Given the description of an element on the screen output the (x, y) to click on. 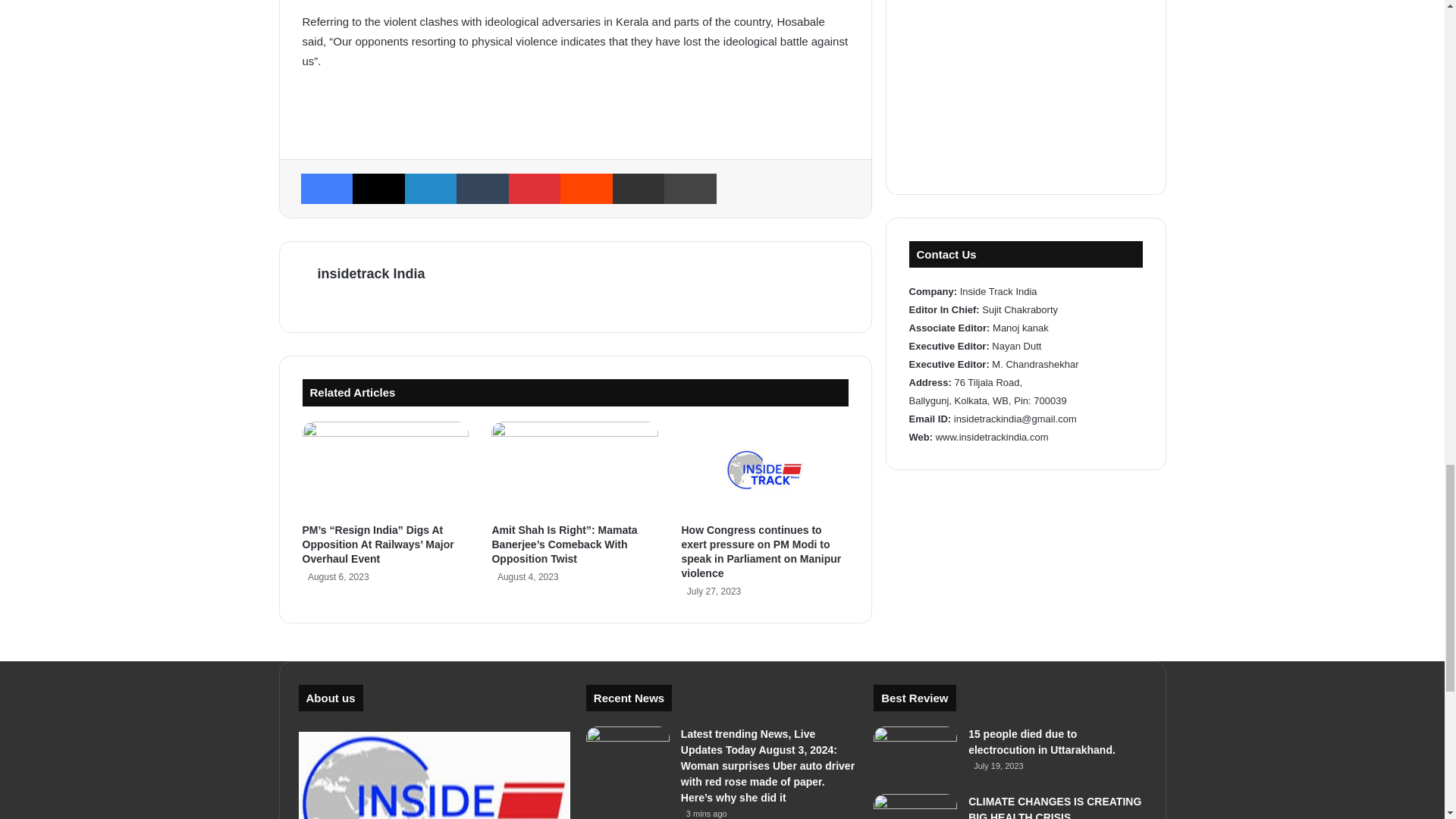
Facebook (325, 188)
LinkedIn (430, 188)
X (378, 188)
